Given the description of an element on the screen output the (x, y) to click on. 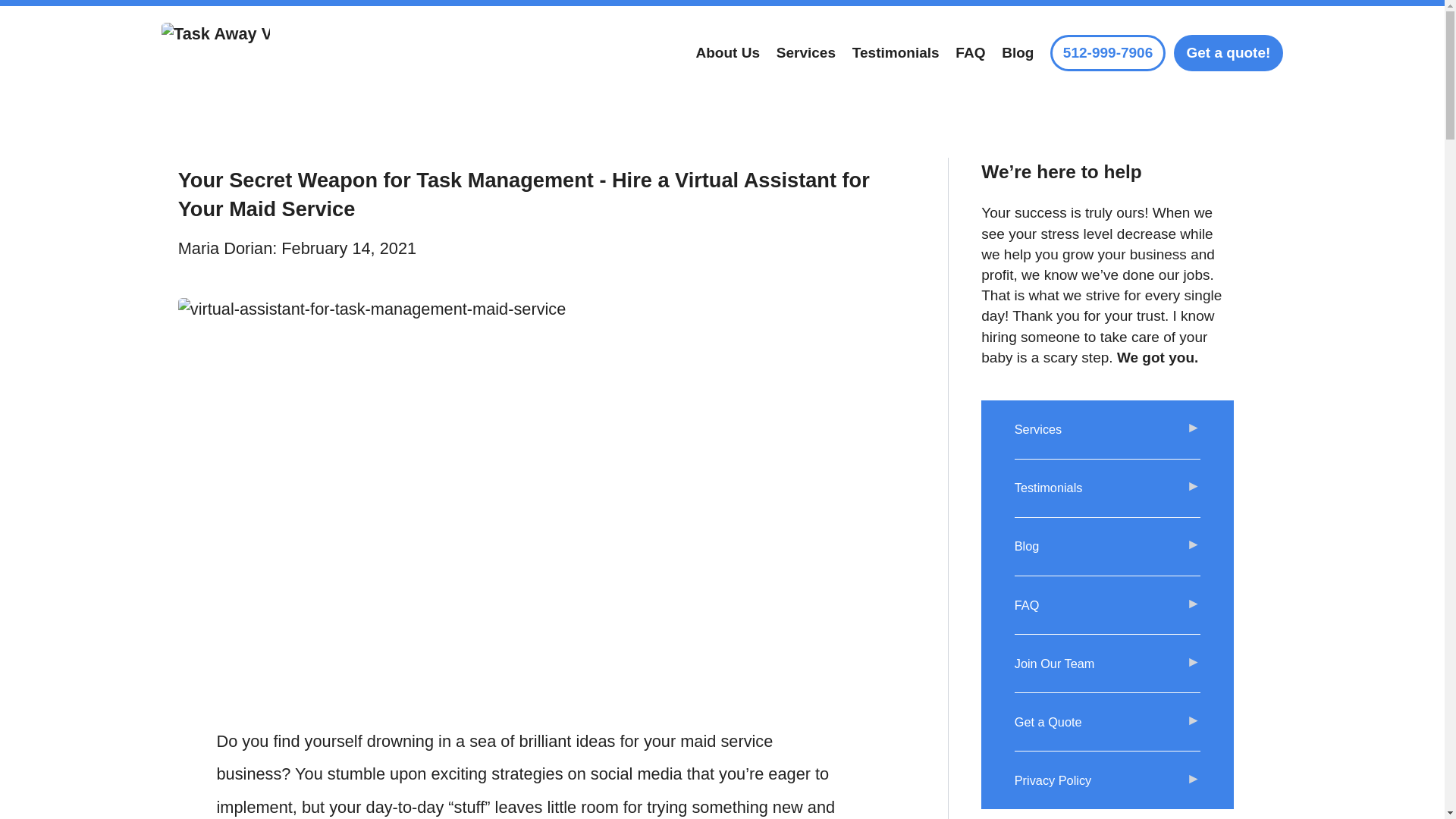
Privacy Policy (1107, 780)
512-999-7906 (1107, 53)
Home (215, 52)
Testimonials (1107, 488)
FAQ (970, 52)
Blog (1107, 546)
Testimonials (895, 52)
About Us (727, 52)
Services (805, 52)
Get a quote! (1227, 53)
Blog (1017, 52)
Services (1107, 429)
Get a Quote (1107, 721)
FAQ (1107, 605)
Join Our Team (1107, 663)
